Given the description of an element on the screen output the (x, y) to click on. 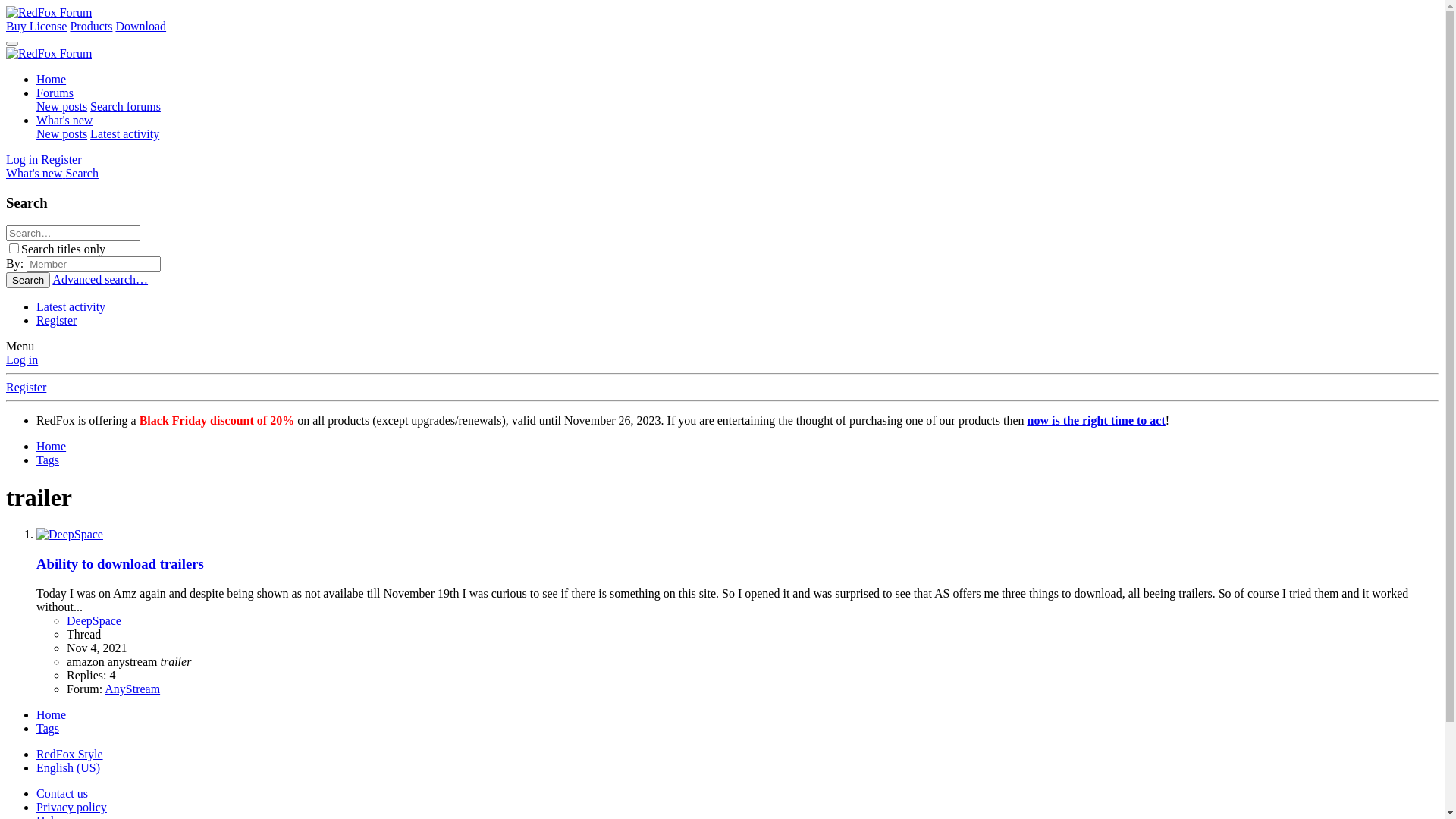
Privacy policy Element type: text (71, 806)
now is the right time to act Element type: text (1096, 420)
Latest activity Element type: text (70, 306)
Forums Element type: text (54, 92)
Tags Element type: text (47, 459)
Contact us Element type: text (61, 793)
Register Element type: text (56, 319)
AnyStream Element type: text (132, 688)
DeepSpace Element type: text (93, 620)
RedFox Style Element type: text (69, 753)
Search forums Element type: text (125, 106)
Register Element type: text (60, 159)
Tags Element type: text (47, 727)
Search Element type: text (28, 280)
Latest activity Element type: text (124, 133)
English (US) Element type: text (68, 767)
Home Element type: text (50, 78)
What's new Element type: text (64, 119)
Log in Element type: text (21, 359)
Home Element type: text (50, 714)
New posts Element type: text (61, 133)
New posts Element type: text (61, 106)
What's new Element type: text (35, 172)
Download Element type: text (140, 25)
Home Element type: text (50, 445)
Ability to download trailers Element type: text (119, 563)
Register Element type: text (26, 386)
Search Element type: text (81, 172)
Log in Element type: text (23, 159)
Products Element type: text (90, 25)
Buy License Element type: text (36, 25)
